Given the description of an element on the screen output the (x, y) to click on. 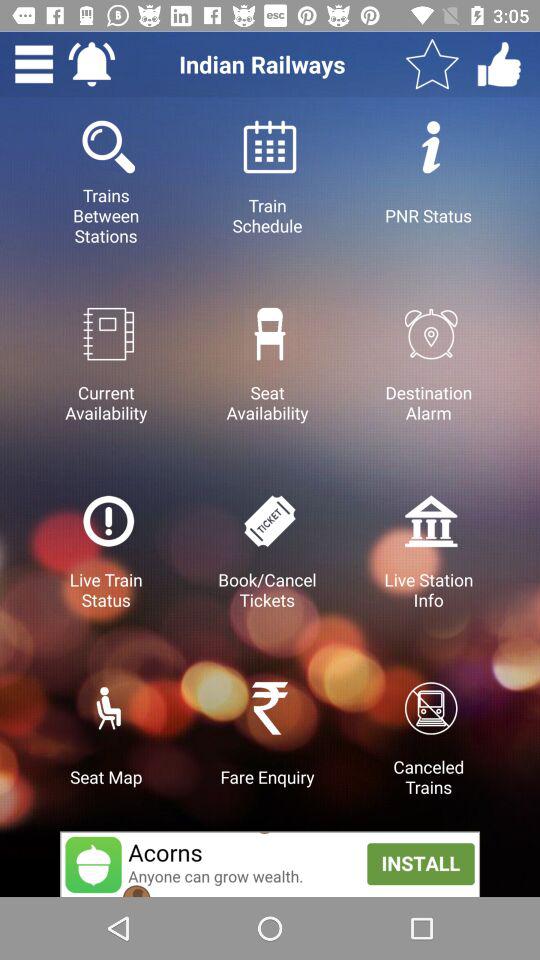
set alert (91, 64)
